Given the description of an element on the screen output the (x, y) to click on. 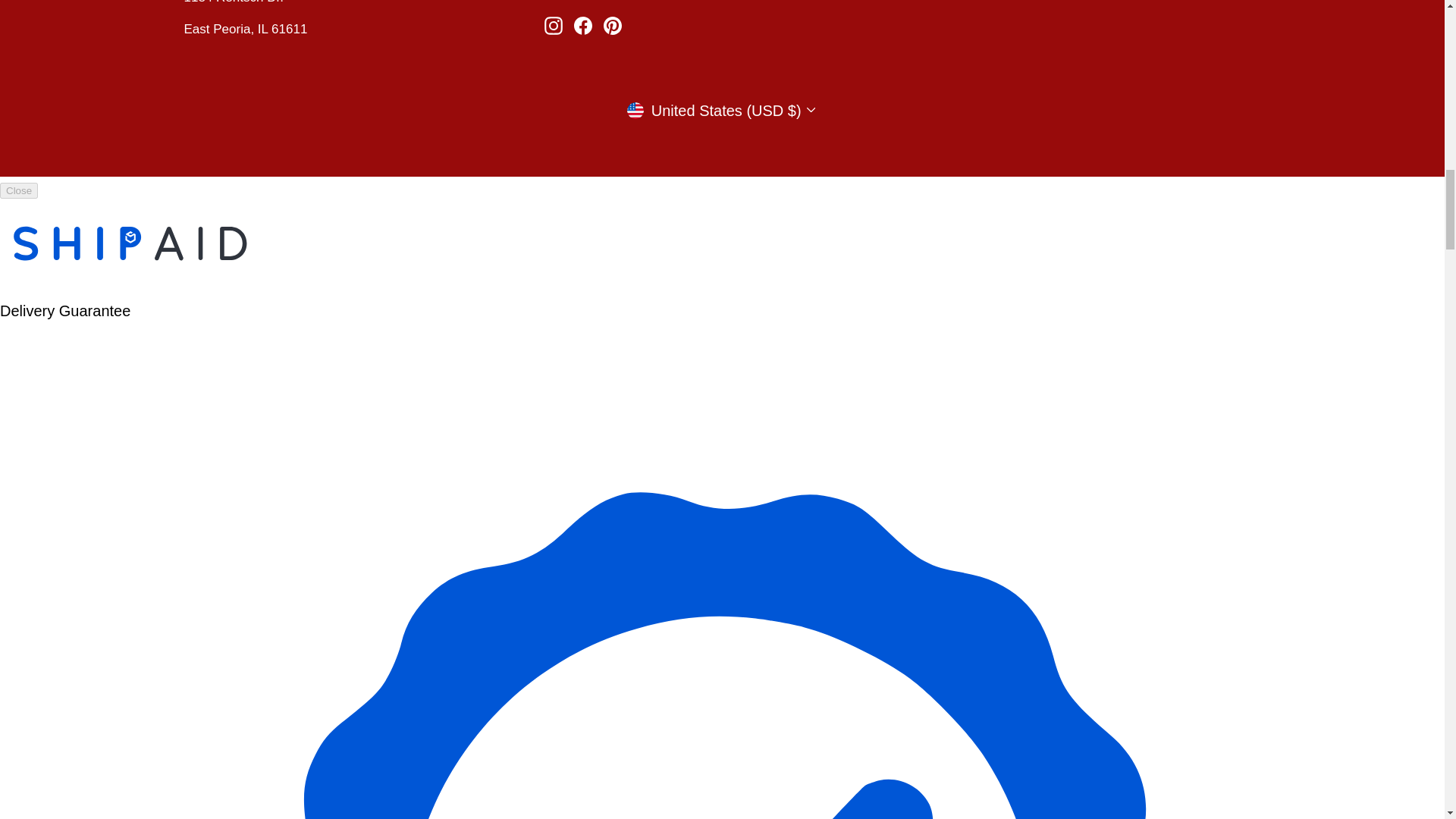
Just Art Pottery on Pinterest (612, 25)
instagram (553, 25)
Just Art Pottery on Instagram (553, 25)
Just Art Pottery on Facebook (582, 25)
